Given the description of an element on the screen output the (x, y) to click on. 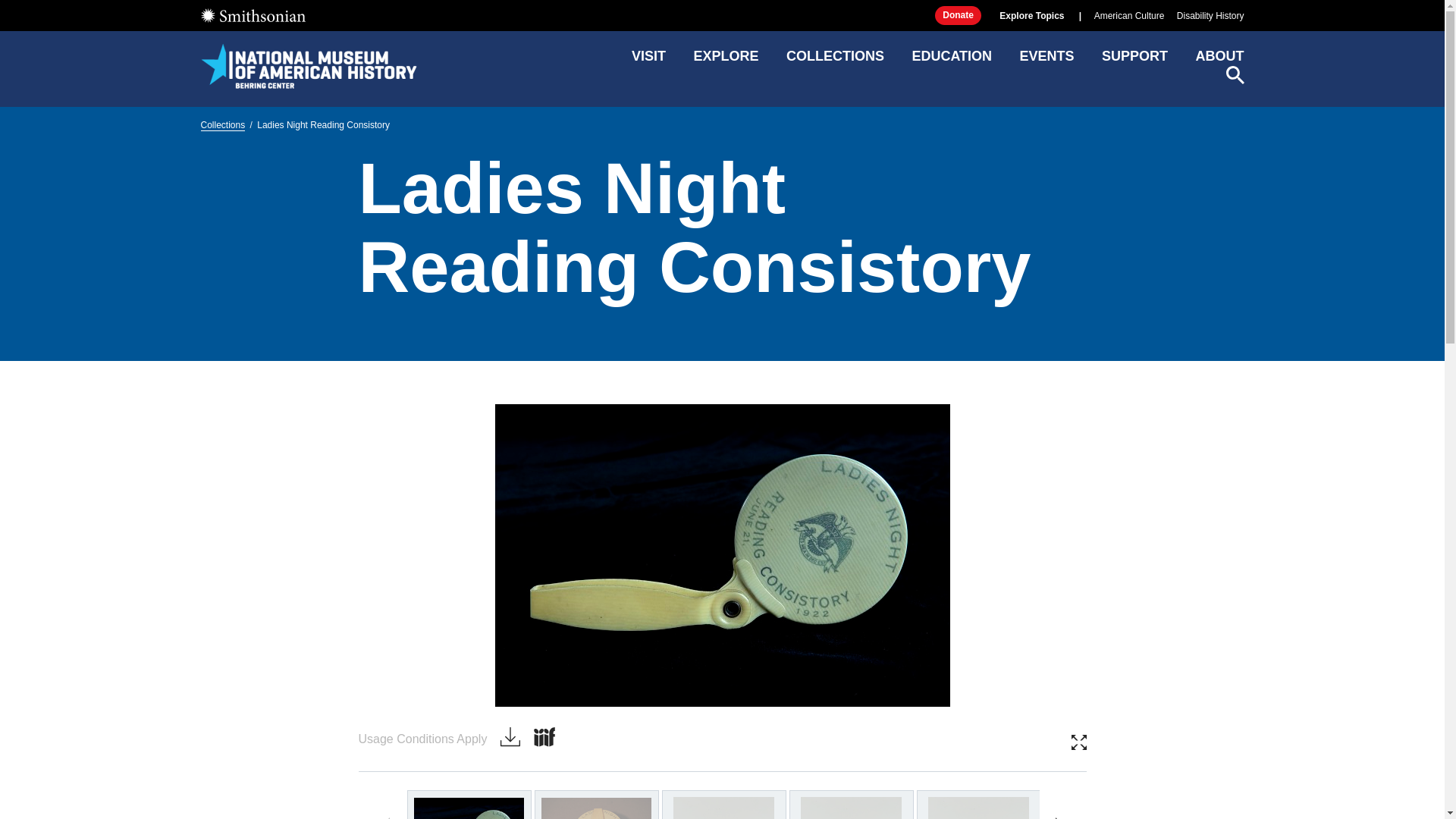
Skip to main content (721, 12)
Click to view IIIF info (544, 737)
Next (1053, 814)
Enlarge image (1078, 742)
VISIT (648, 60)
National Museum of American History (308, 65)
SEARCH (1234, 75)
EXPLORE (725, 60)
SUPPORT (1134, 60)
Smithsonian (252, 15)
Disability History (1210, 15)
ABOUT (1219, 60)
Previous (389, 814)
EDUCATION (951, 60)
